Given the description of an element on the screen output the (x, y) to click on. 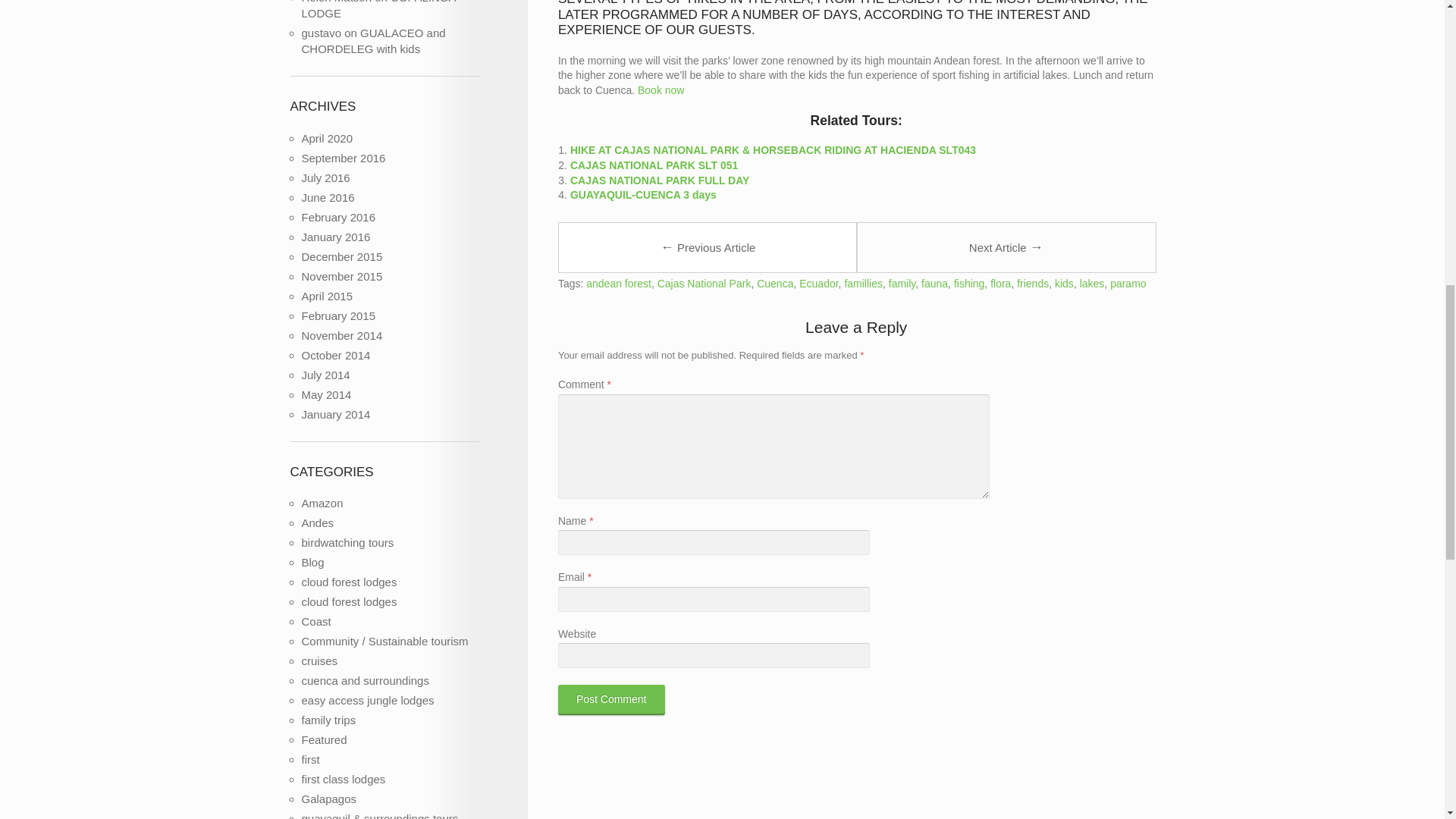
CAJAS NATIONAL PARK SLT 051 (654, 164)
CAJAS NATIONAL PARK FULL DAY (659, 180)
sport fishing at cajas national park (660, 90)
Post Comment (611, 699)
GUAYAQUIL-CUENCA 3 days (643, 194)
